Given the description of an element on the screen output the (x, y) to click on. 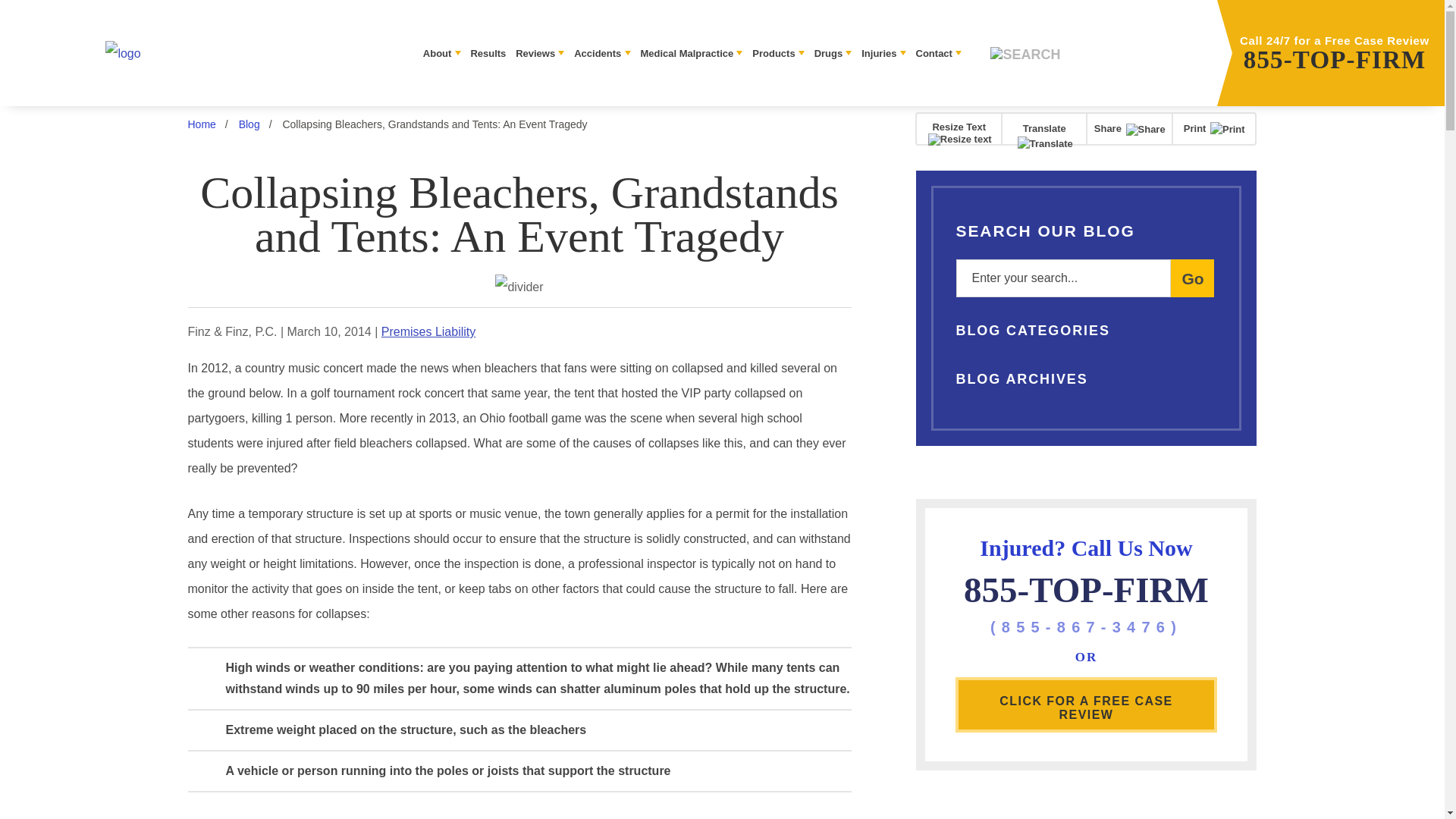
Go (1192, 278)
